Given the description of an element on the screen output the (x, y) to click on. 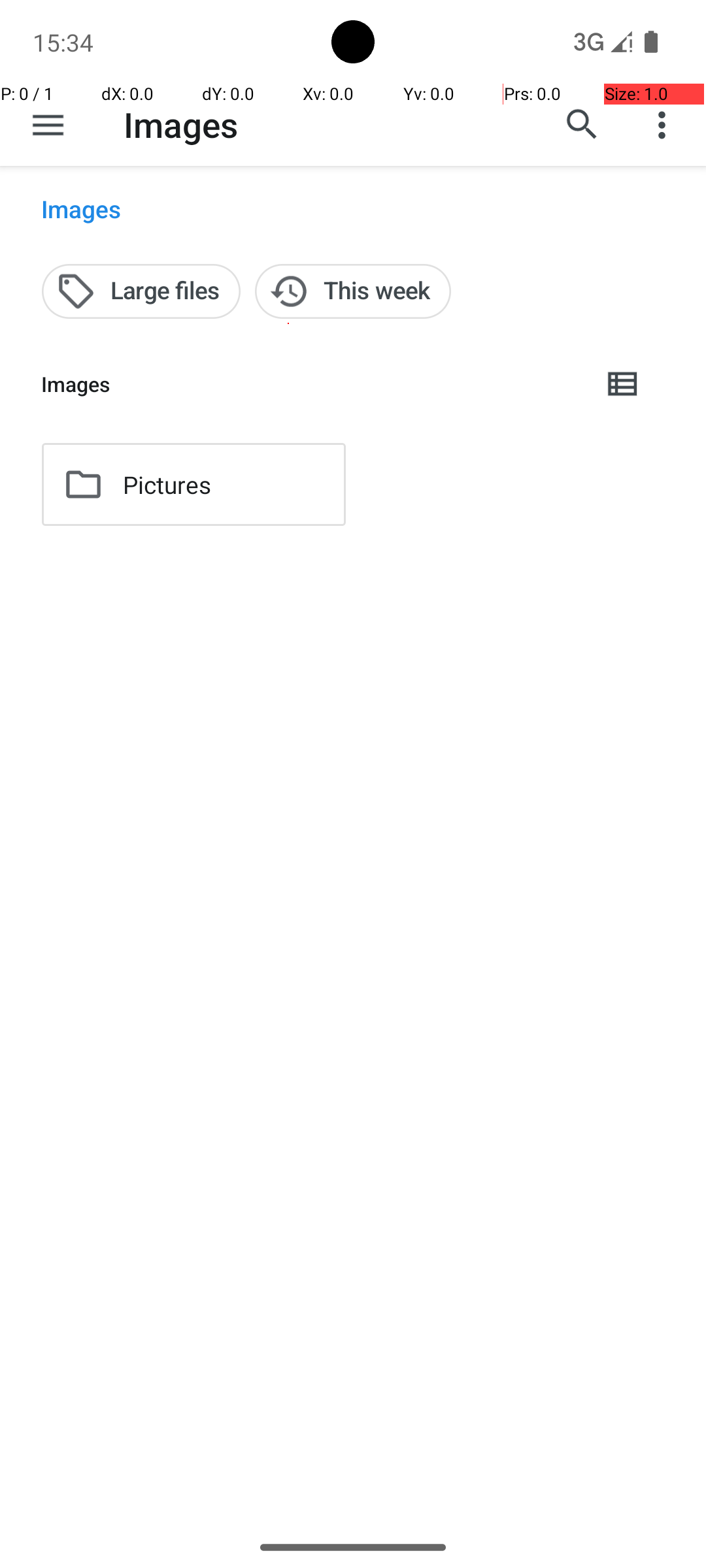
Show roots Element type: android.widget.ImageButton (48, 124)
Images Element type: android.widget.TextView (180, 124)
List view Element type: android.widget.TextView (622, 384)
Large files Element type: android.widget.CompoundButton (140, 291)
This week Element type: android.widget.CompoundButton (352, 291)
Pictures Element type: android.widget.TextView (166, 484)
